Given the description of an element on the screen output the (x, y) to click on. 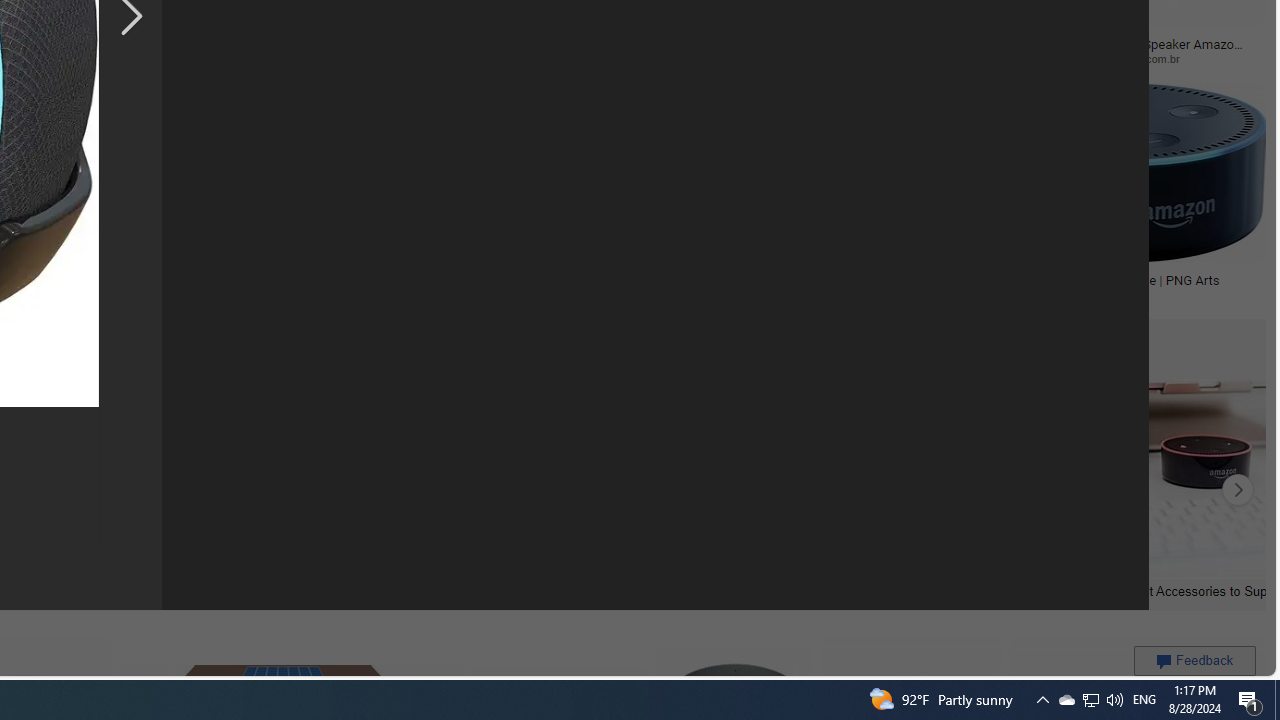
pngarts.com (1123, 295)
energyearth.com (84, 294)
skroutz.gr (359, 295)
avenidatecnologica.com (905, 57)
inpower.com.br (1149, 57)
Image result for Amazon Echo Dot PNG (1122, 172)
pngkey.com (139, 57)
